Given the description of an element on the screen output the (x, y) to click on. 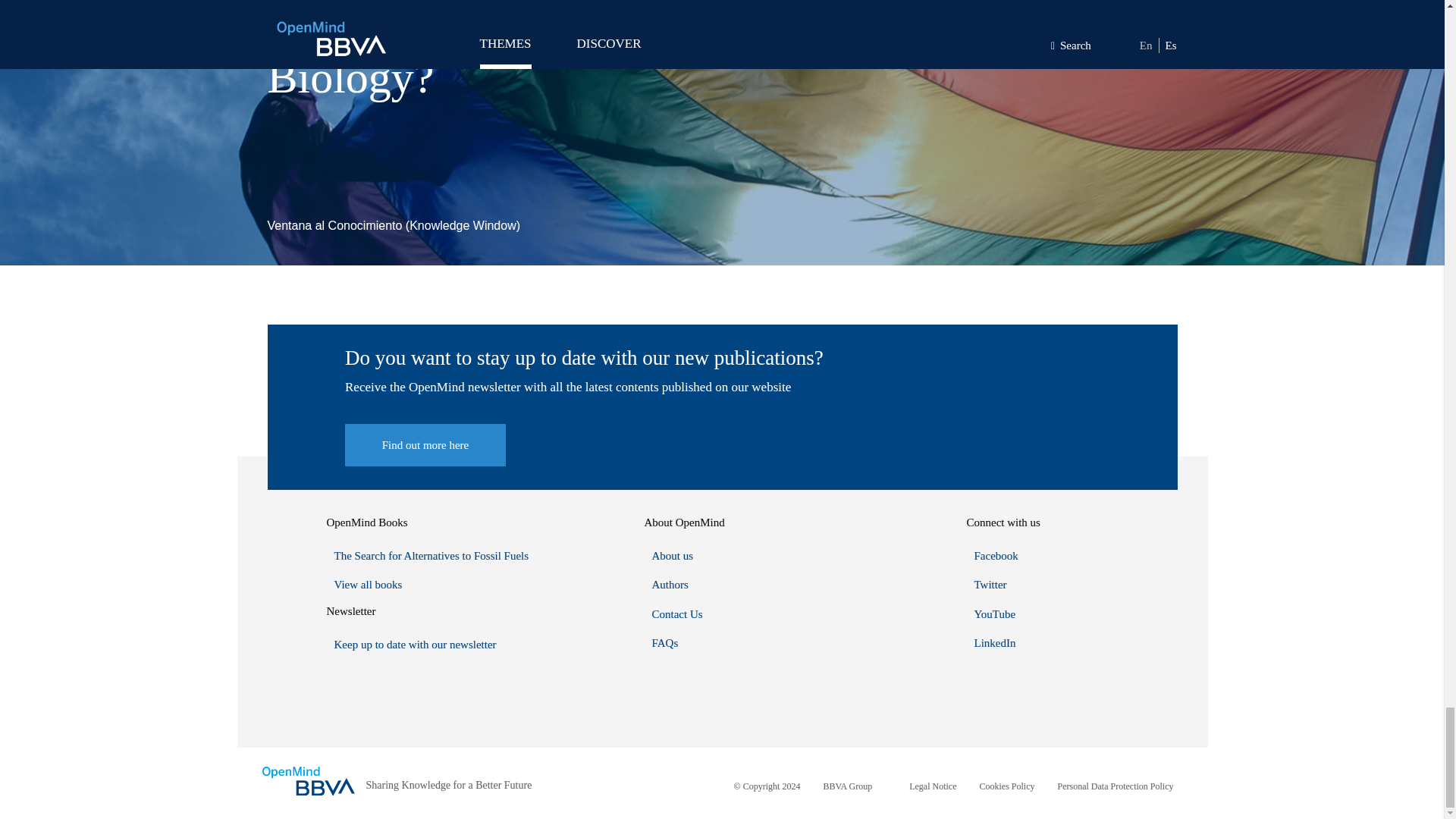
Cookies Policy (1007, 786)
BBVA Group (847, 786)
Legal Notice (932, 786)
Personal Data Protection Policy (1115, 786)
